Given the description of an element on the screen output the (x, y) to click on. 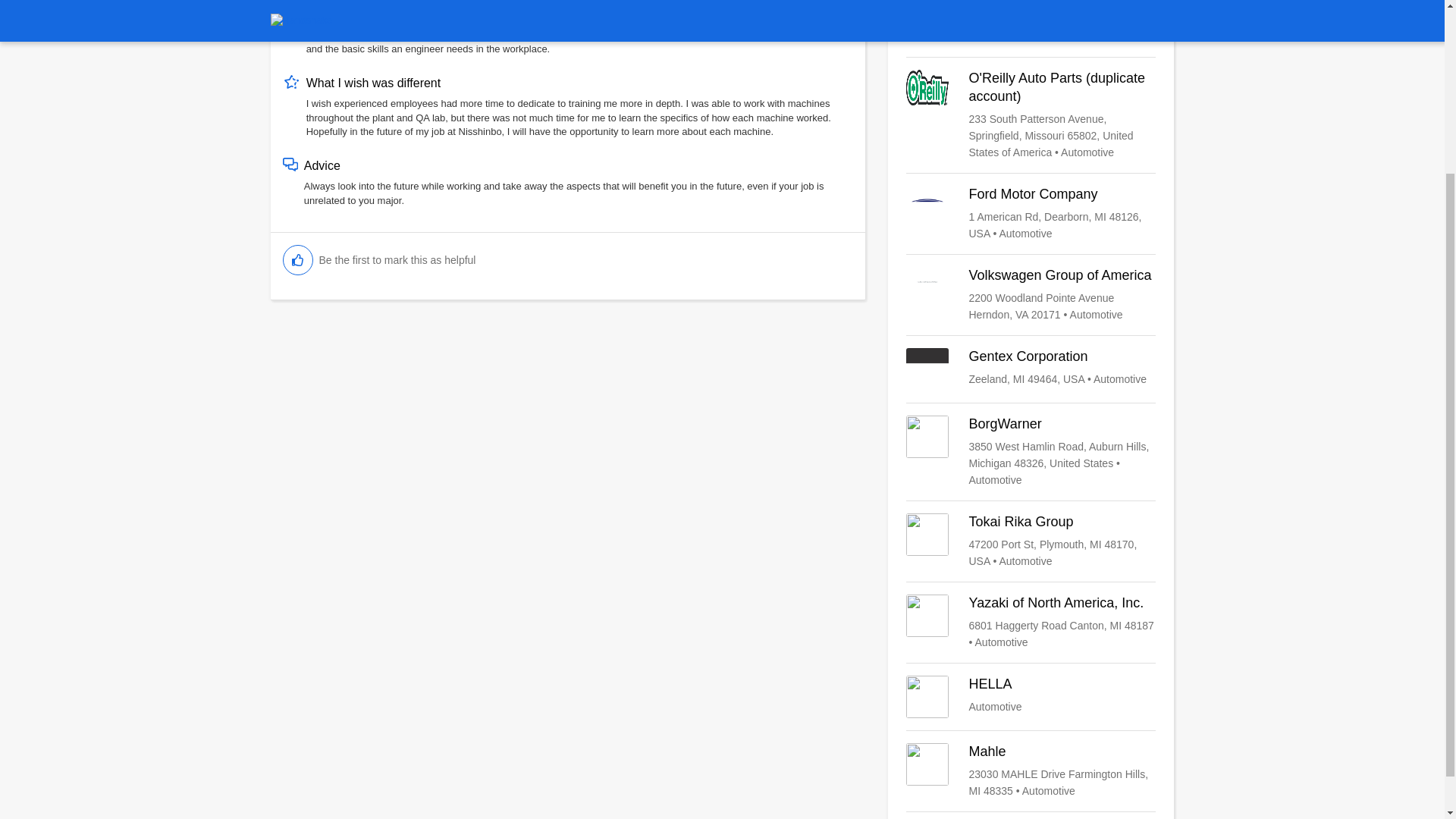
Volkswagen Group of America (1030, 294)
Tokai Rika Group (1030, 541)
HELLA (1030, 696)
Mark this as helpful (1030, 696)
Mahle (297, 259)
BorgWarner (1030, 770)
Gentex Corporation (1030, 451)
Yazaki of North America, Inc. (1030, 369)
Ford Motor Company (1030, 622)
